Given the description of an element on the screen output the (x, y) to click on. 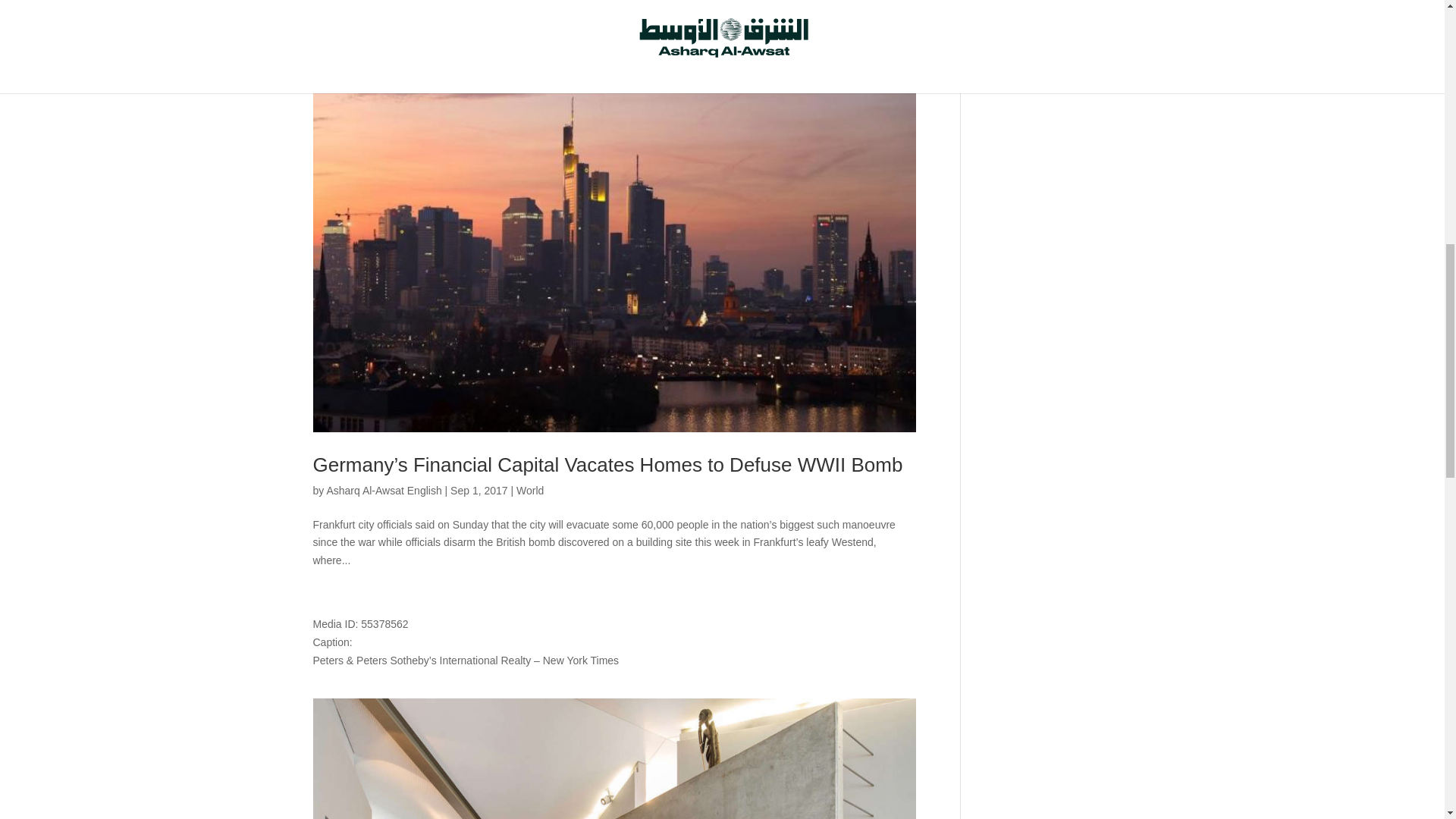
World (529, 490)
Asharq Al-Awsat English (383, 490)
Posts by Asharq Al-Awsat English (383, 490)
